Given the description of an element on the screen output the (x, y) to click on. 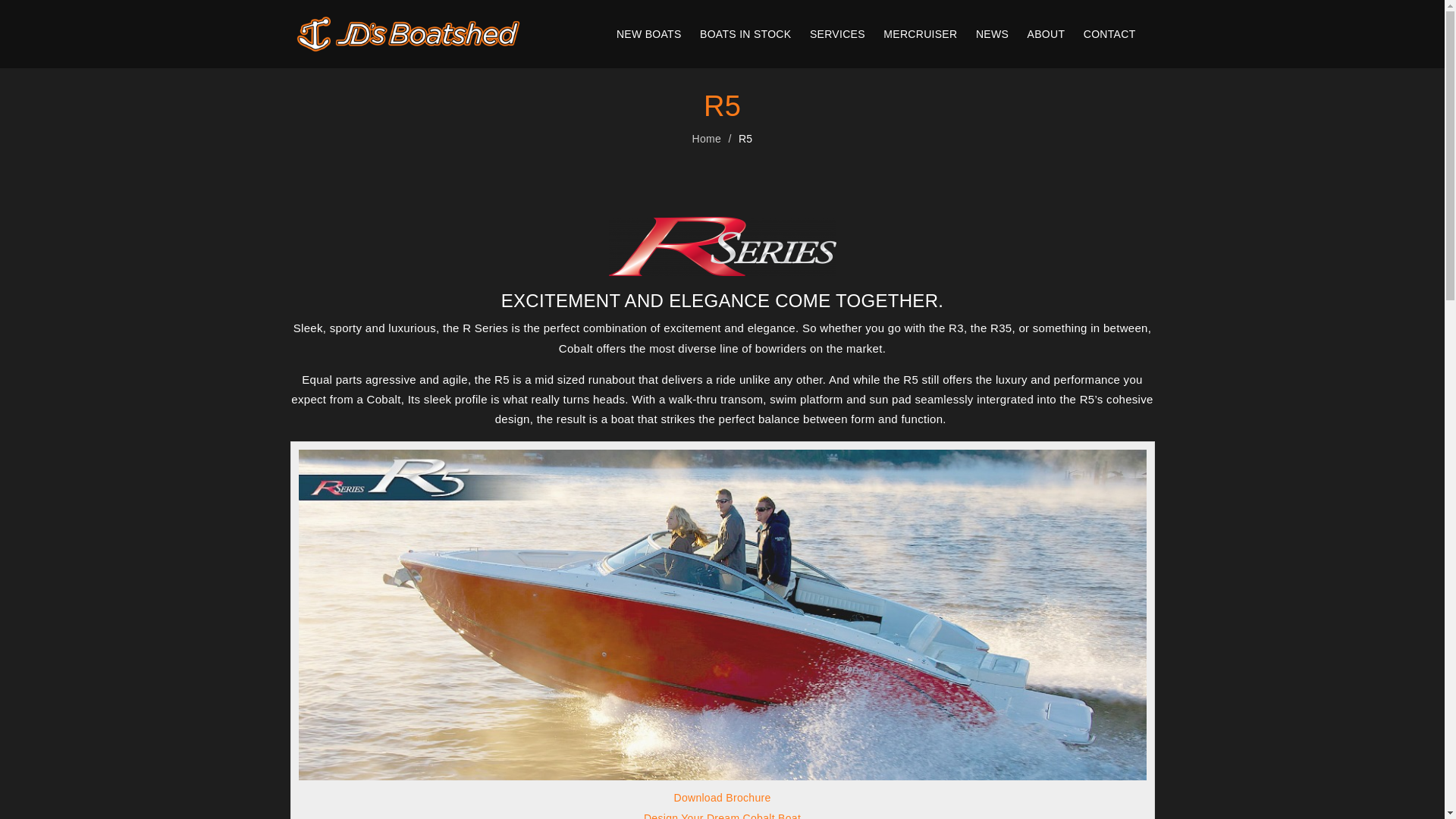
BOATS IN STOCK Element type: text (745, 34)
CONTACT Element type: text (1109, 34)
Home Element type: text (706, 138)
NEWS Element type: text (992, 34)
Download Brochure Element type: text (721, 797)
SERVICES Element type: text (837, 34)
ABOUT Element type: text (1046, 34)
NEW BOATS Element type: text (648, 34)
MERCRUISER Element type: text (919, 34)
